Given the description of an element on the screen output the (x, y) to click on. 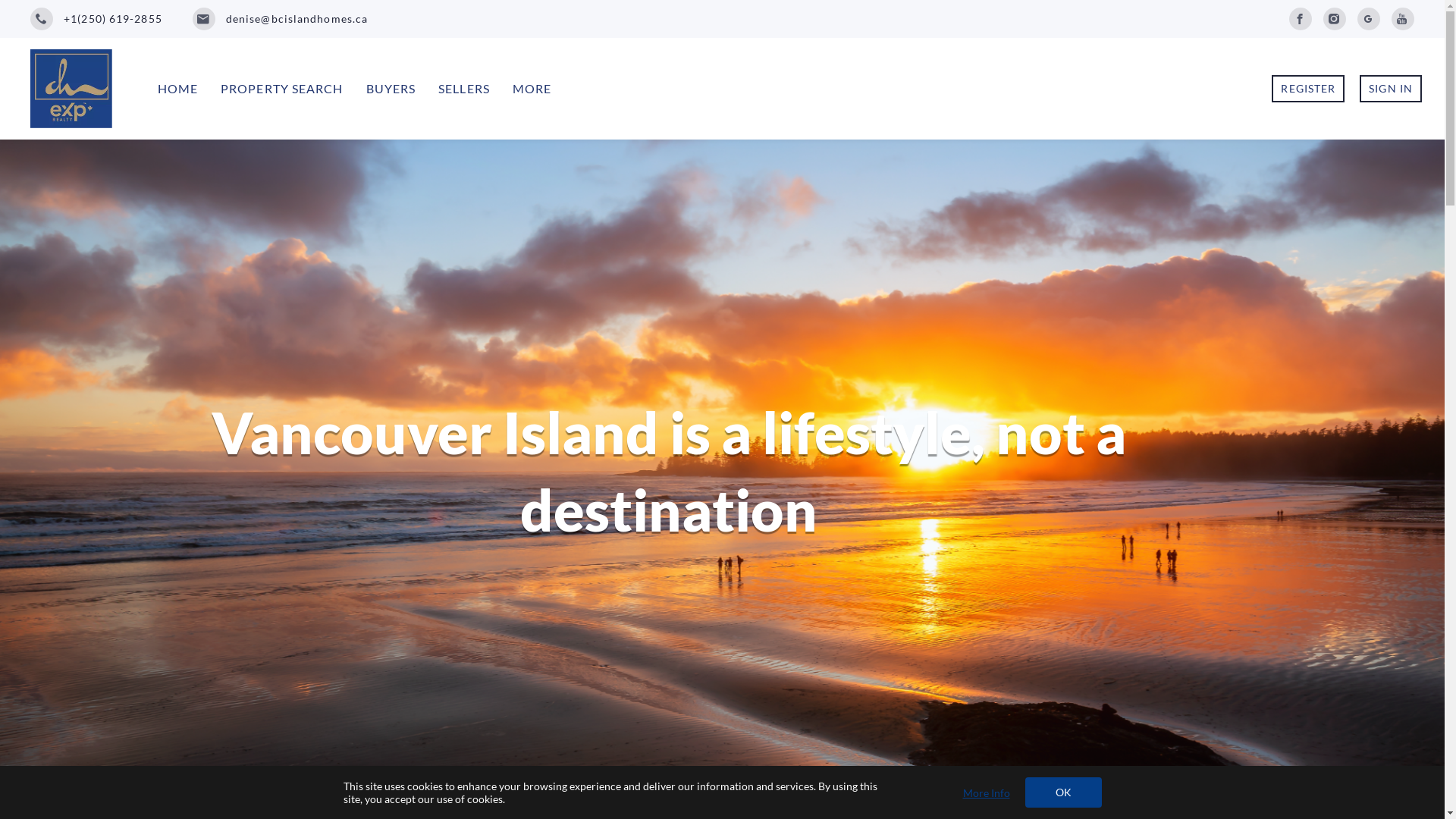
+1(250) 619-2855 Element type: text (96, 18)
HOME Element type: text (177, 88)
MORE Element type: text (531, 88)
denise@bcislandhomes.ca Element type: text (279, 18)
SELLERS Element type: text (463, 88)
More Info Element type: text (986, 791)
PROPERTY SEARCH Element type: text (281, 88)
BUYERS Element type: text (391, 88)
